Given the description of an element on the screen output the (x, y) to click on. 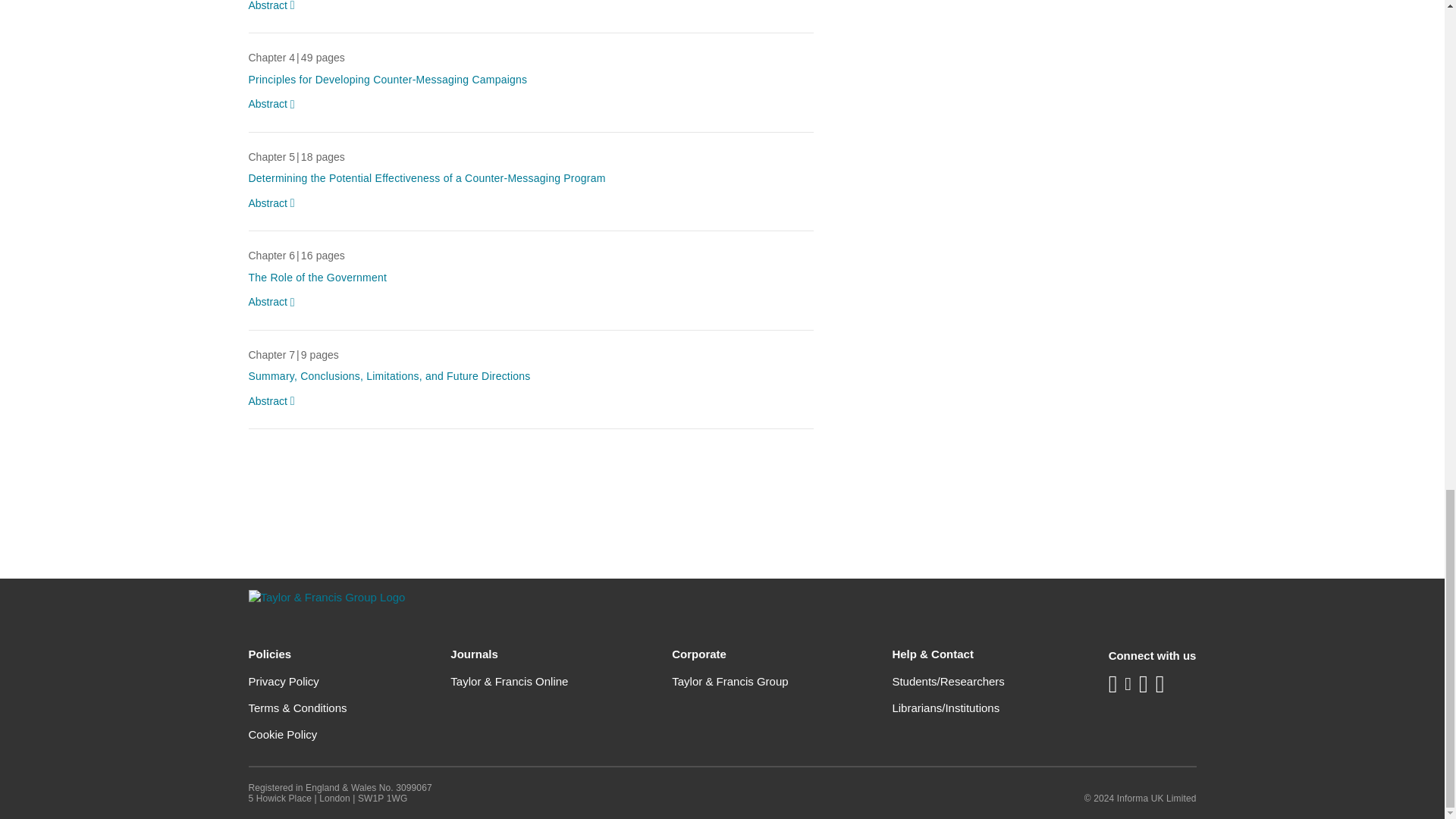
Abstract (273, 401)
Cookie Policy (282, 734)
Abstract (273, 104)
Summary, Conclusions, Limitations, and Future Directions (389, 376)
Privacy Policy (283, 681)
Abstract (273, 6)
Principles for Developing Counter-Messaging Campaigns (387, 79)
Abstract (273, 302)
Abstract (273, 203)
